Given the description of an element on the screen output the (x, y) to click on. 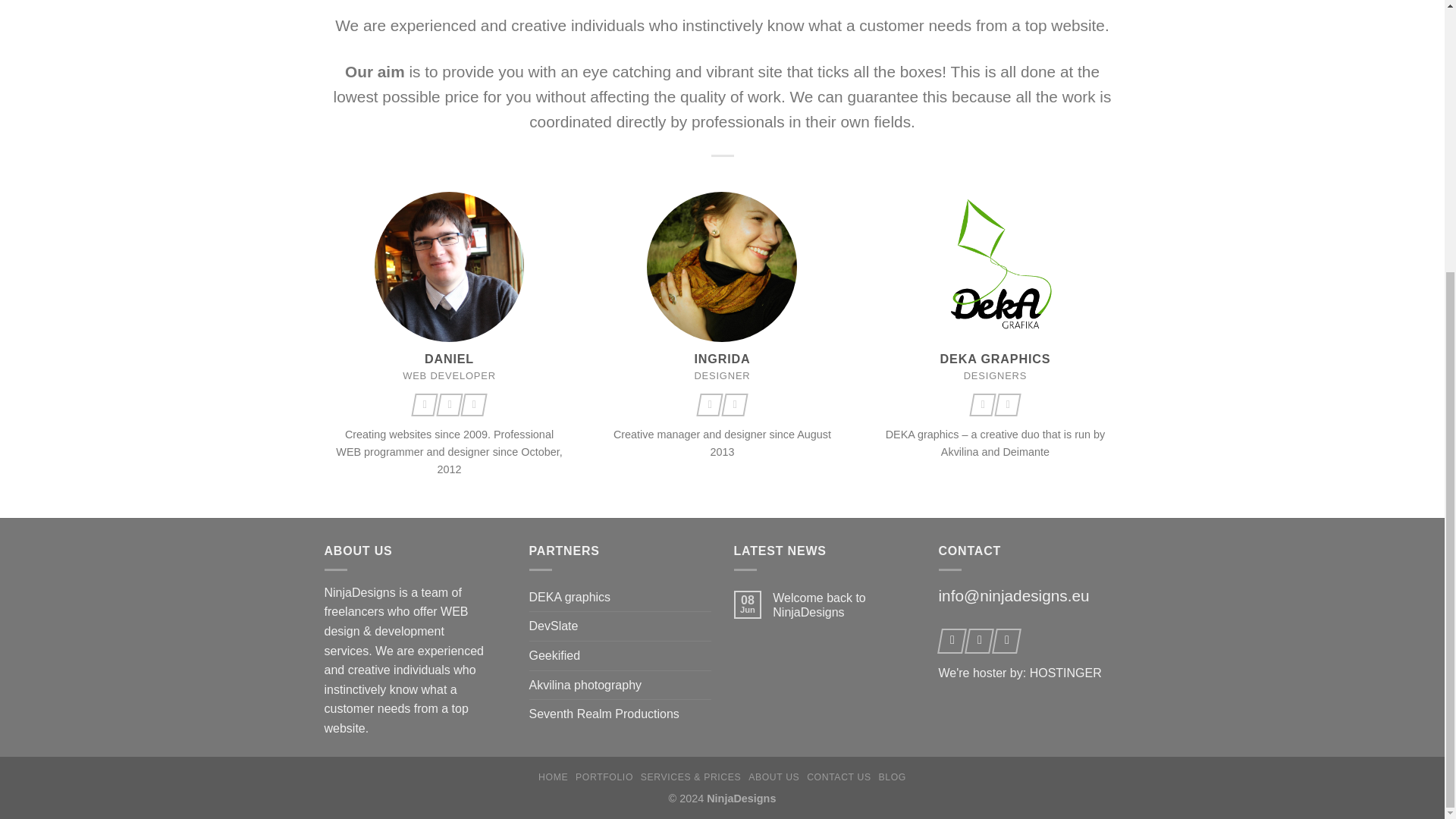
Welcome back to NinjaDesigns (844, 604)
Geekified (554, 655)
HOME (552, 777)
Send us an email (732, 404)
DevSlate (553, 625)
Follow on Twitter (976, 640)
Follow on Facebook (980, 404)
Follow on LinkedIn (472, 404)
Send us an email (446, 404)
Send us an email (1005, 404)
Follow on Facebook (949, 640)
Welcome back to NinjaDesigns (844, 604)
HOSTINGER (1065, 672)
Follow on Facebook (708, 404)
Seventh Realm Productions (604, 714)
